Given the description of an element on the screen output the (x, y) to click on. 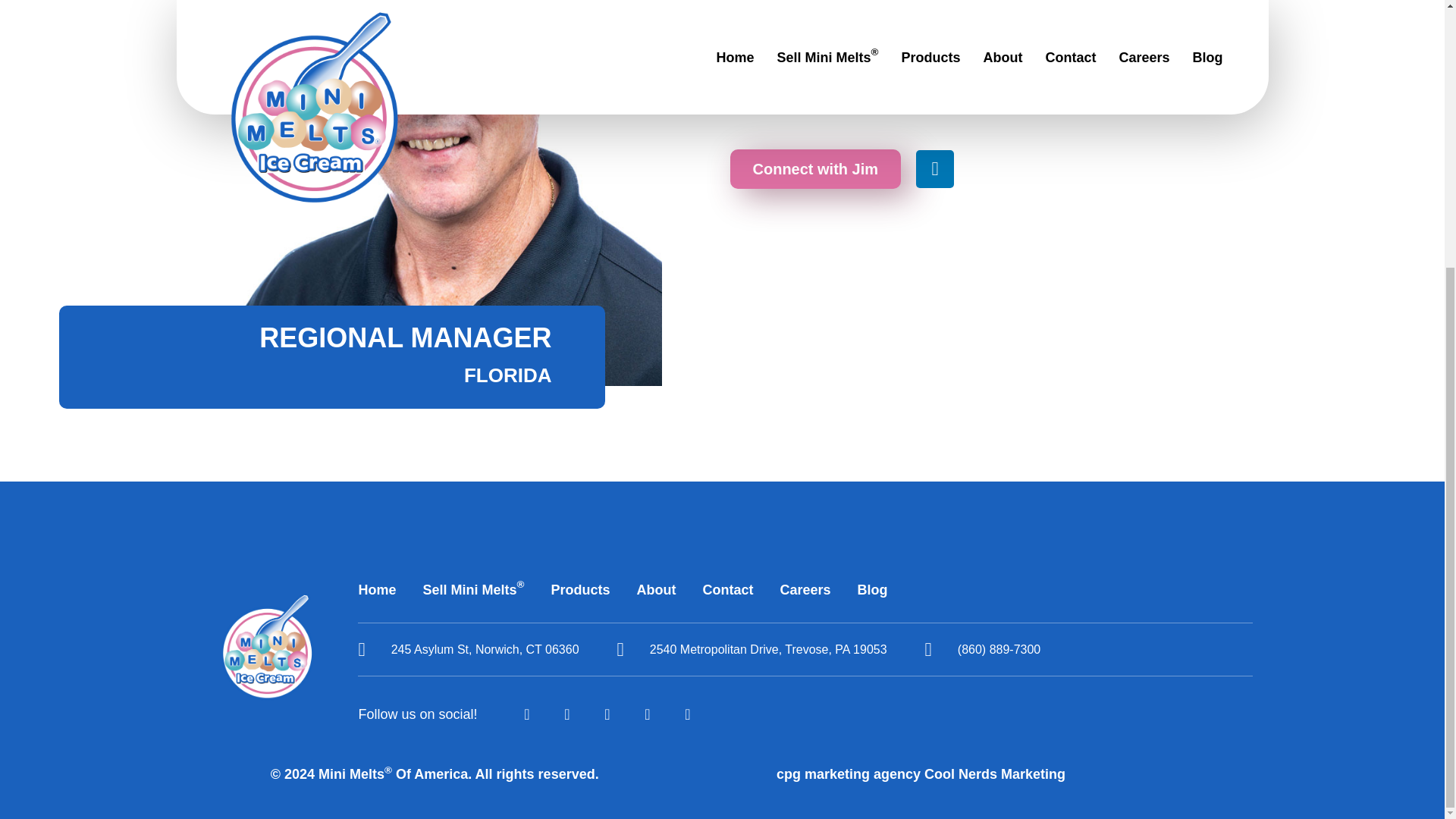
Connect with Jim (815, 169)
Products (580, 588)
Home (377, 588)
Linkedin-in (934, 168)
